Given the description of an element on the screen output the (x, y) to click on. 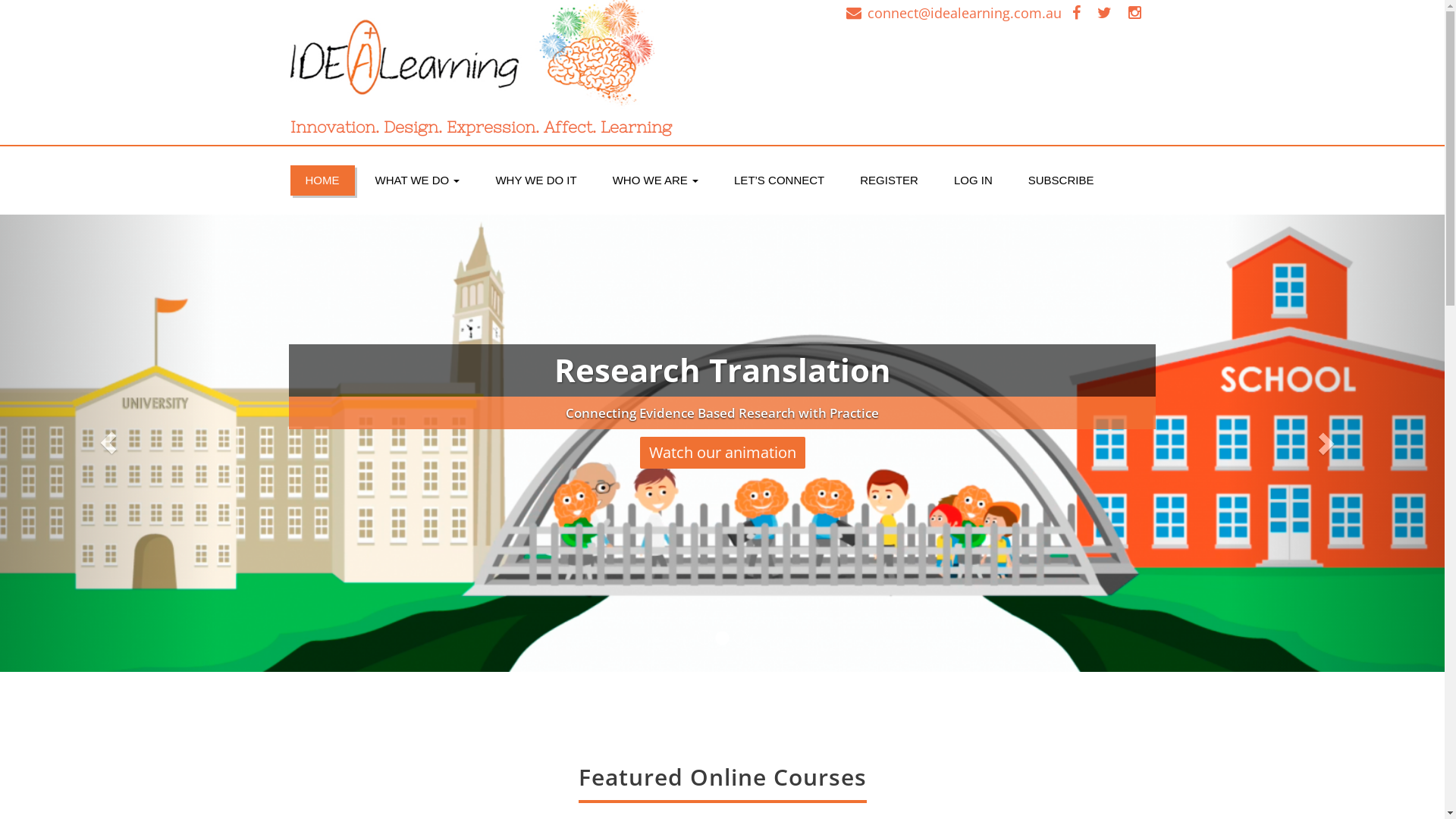
connect@idealearning.com.au Element type: text (964, 12)
WHY WE DO IT Element type: text (535, 180)
WHAT WE DO Element type: text (416, 180)
REGISTER Element type: text (888, 180)
Watch our animation Element type: text (861, 459)
LOG IN Element type: text (972, 180)
IDEALearning Element type: hover (499, 56)
HOME Element type: text (321, 180)
SUBSCRIBE Element type: text (1061, 180)
WHO WE ARE Element type: text (655, 180)
